Given the description of an element on the screen output the (x, y) to click on. 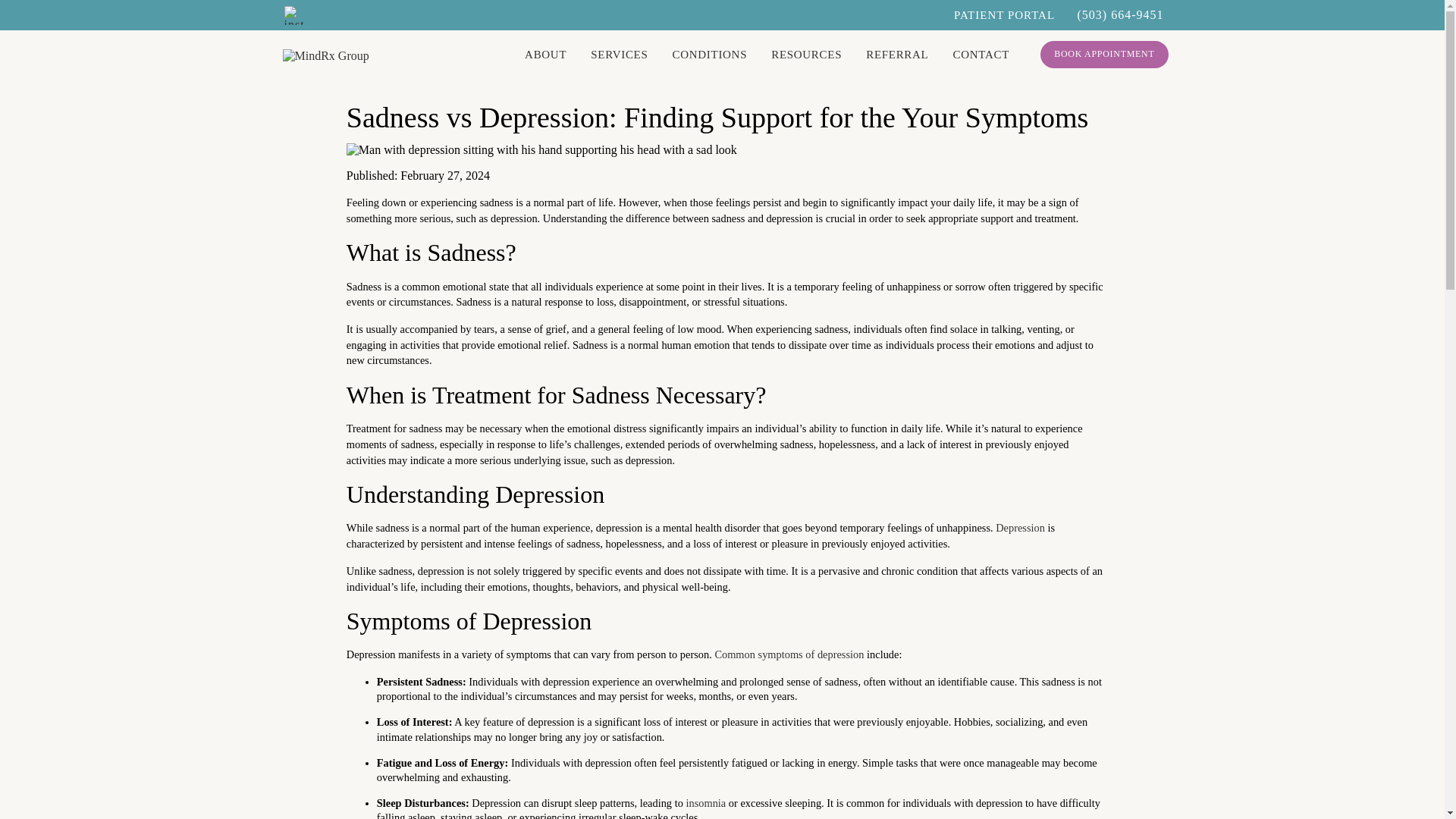
CONDITIONS (710, 54)
RESOURCES (806, 54)
Depression (1020, 527)
ABOUT (545, 54)
REFERRAL (897, 54)
BOOK APPOINTMENT (1104, 53)
Common symptoms of depression (788, 654)
SERVICES (619, 54)
PATIENT PORTAL (1003, 15)
insomnia (705, 802)
CONTACT (980, 54)
